Given the description of an element on the screen output the (x, y) to click on. 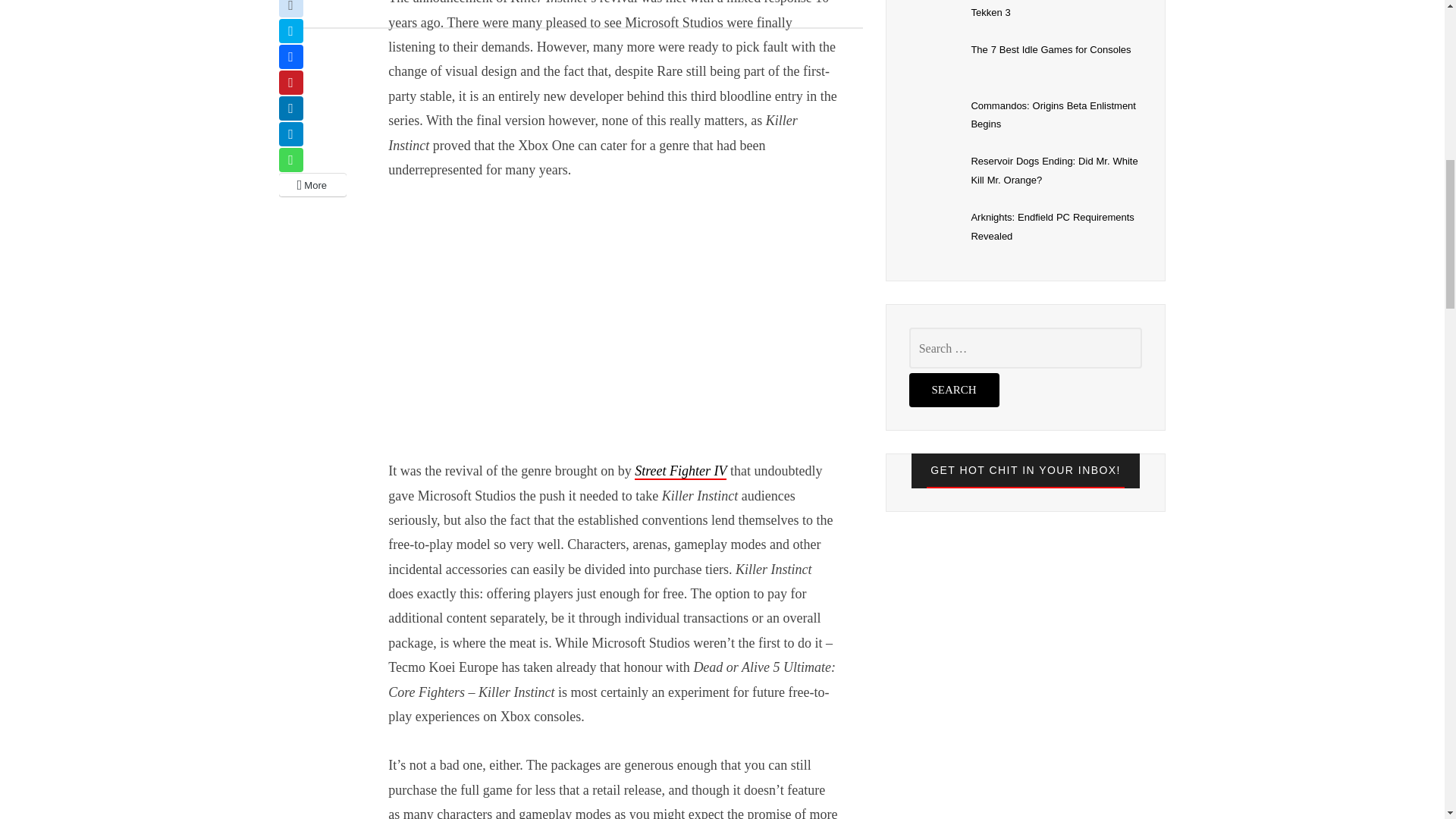
More (313, 184)
Click to share on LinkedIn (290, 108)
Search (953, 390)
Click to share on Pinterest (290, 82)
Click to share on Facebook (290, 56)
Click to share on Reddit (290, 8)
Click to share on WhatsApp (290, 159)
Click to share on Twitter (290, 30)
Street Fighter IV (680, 471)
Click to share on Telegram (290, 134)
